Given the description of an element on the screen output the (x, y) to click on. 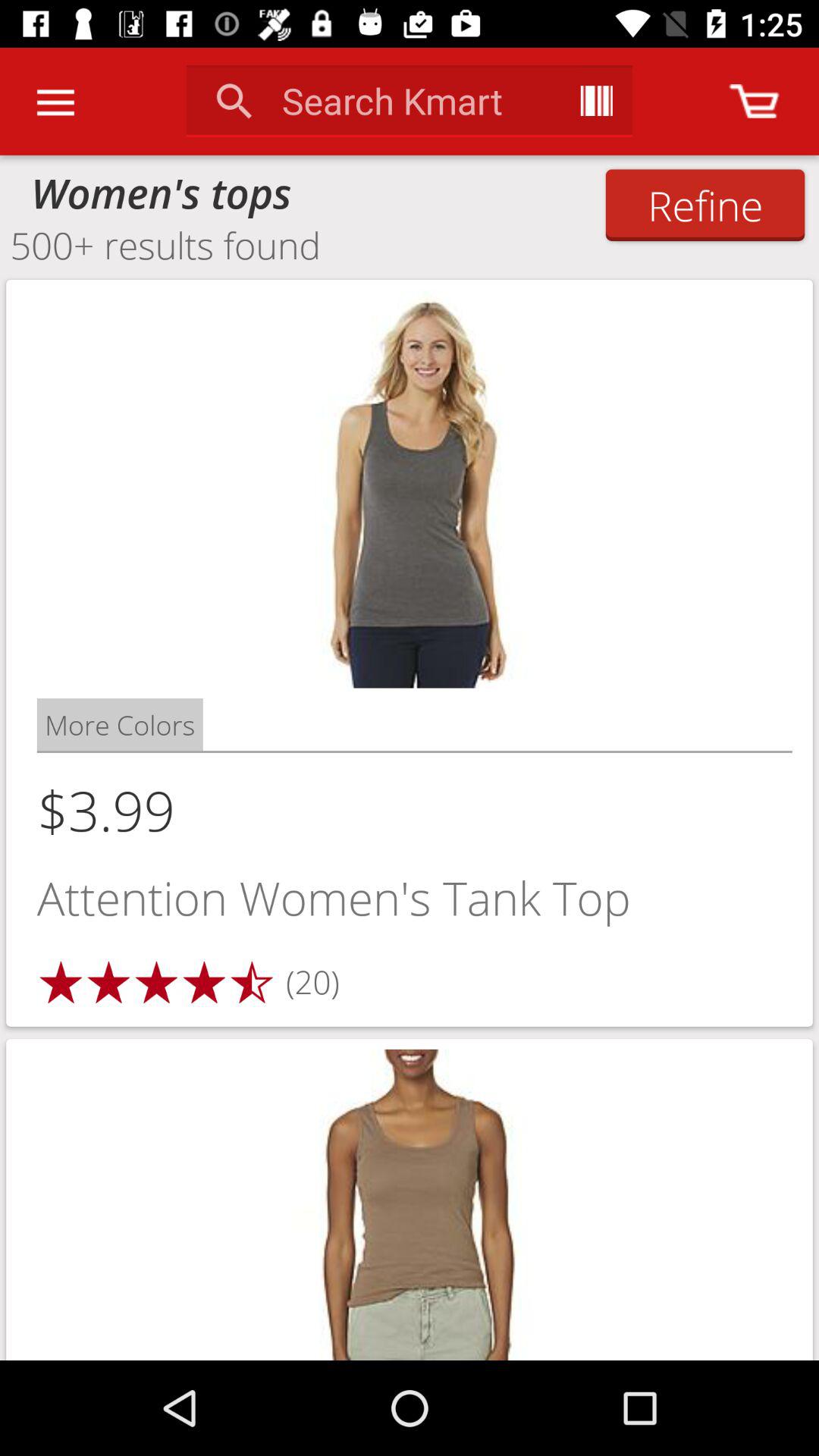
click the app next to the search kmart (596, 100)
